Given the description of an element on the screen output the (x, y) to click on. 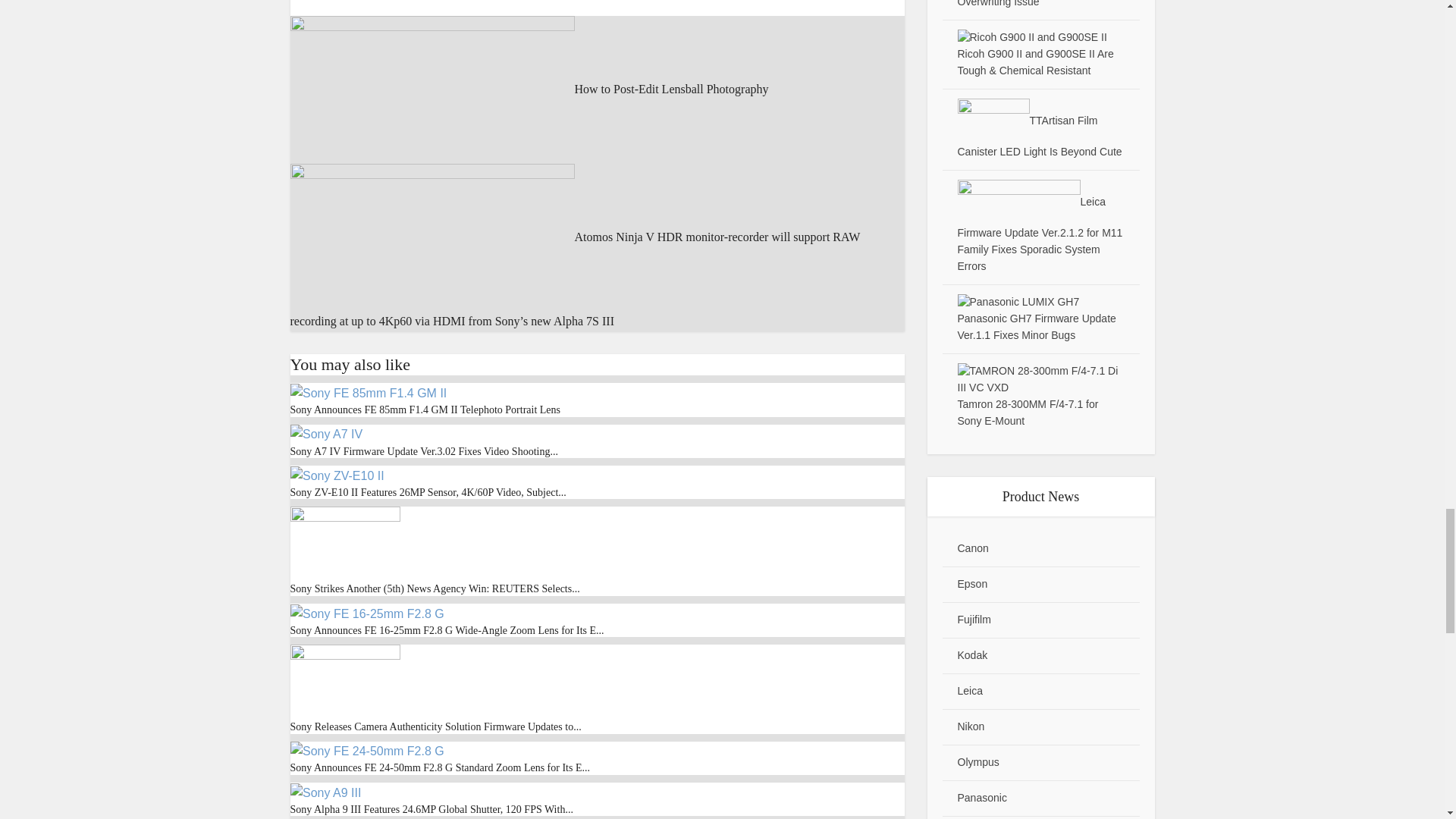
Sony Announces FE 85mm F1.4 GM II Telephoto Portrait Lens (424, 409)
How to Post-Edit Lensball Photography (528, 88)
Sony Announces FE 85mm F1.4 GM II Telephoto Portrait Lens (367, 391)
Sony Announces FE 85mm F1.4 GM II Telephoto Portrait Lens (424, 409)
